Given the description of an element on the screen output the (x, y) to click on. 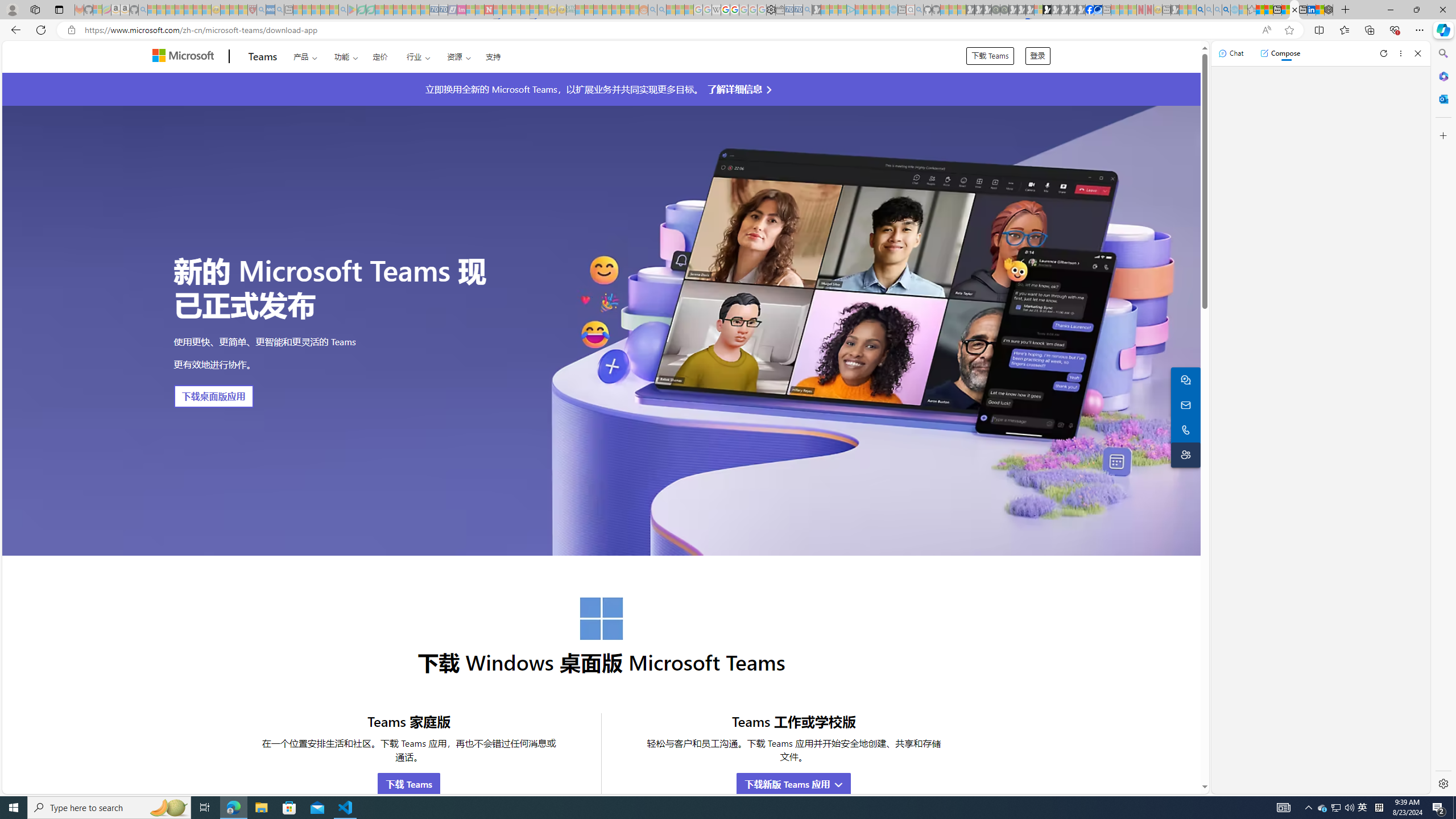
Expert Portfolios - Sleeping (606, 9)
